Given the description of an element on the screen output the (x, y) to click on. 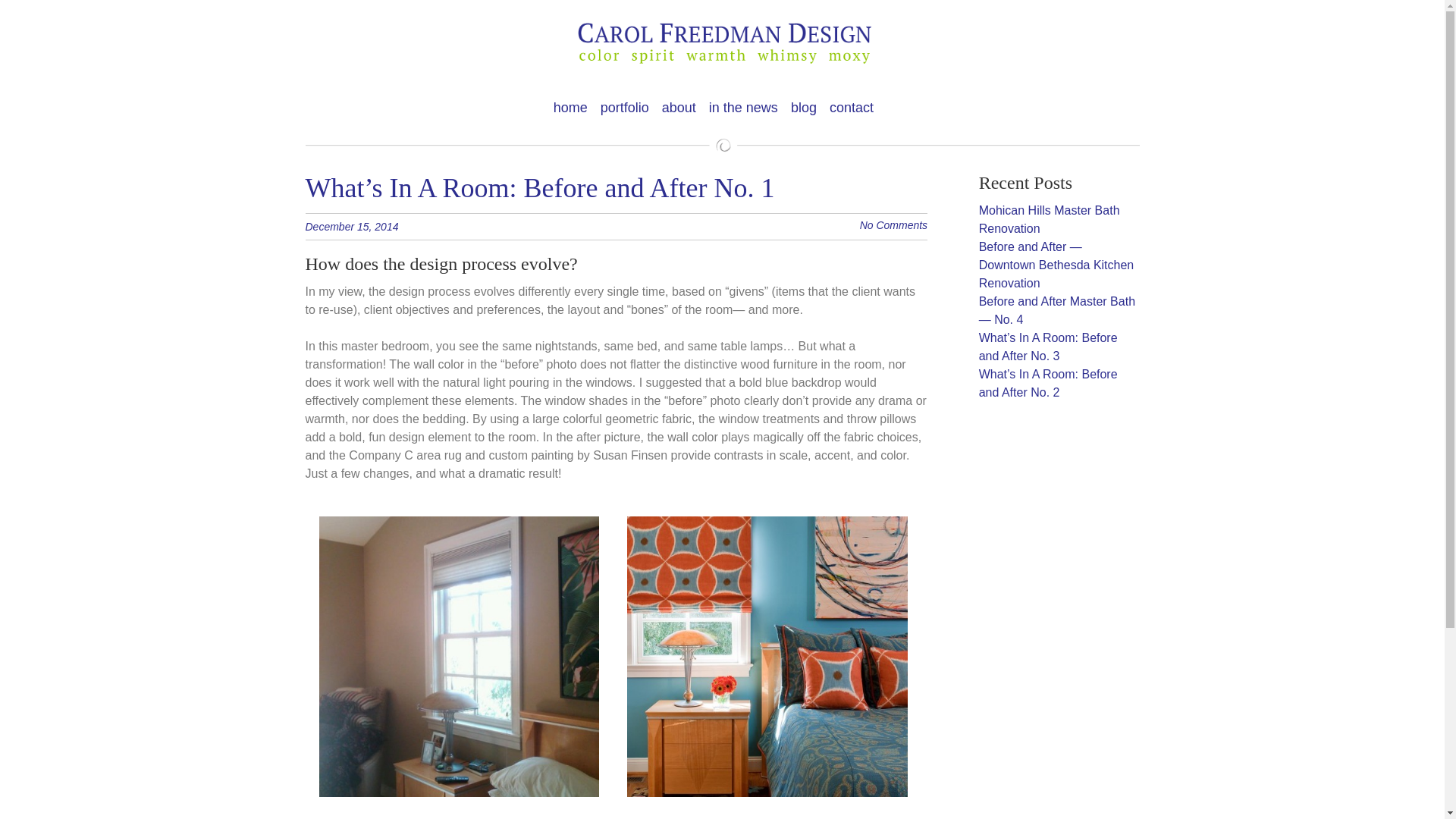
home (570, 107)
in the news (740, 107)
No Comments (893, 224)
portfolio (622, 107)
December 15, 2014 (358, 226)
contact (848, 107)
Carol Freedman Design (721, 43)
about (675, 107)
Mohican Hills Master Bath Renovation (1048, 219)
blog (801, 107)
